Given the description of an element on the screen output the (x, y) to click on. 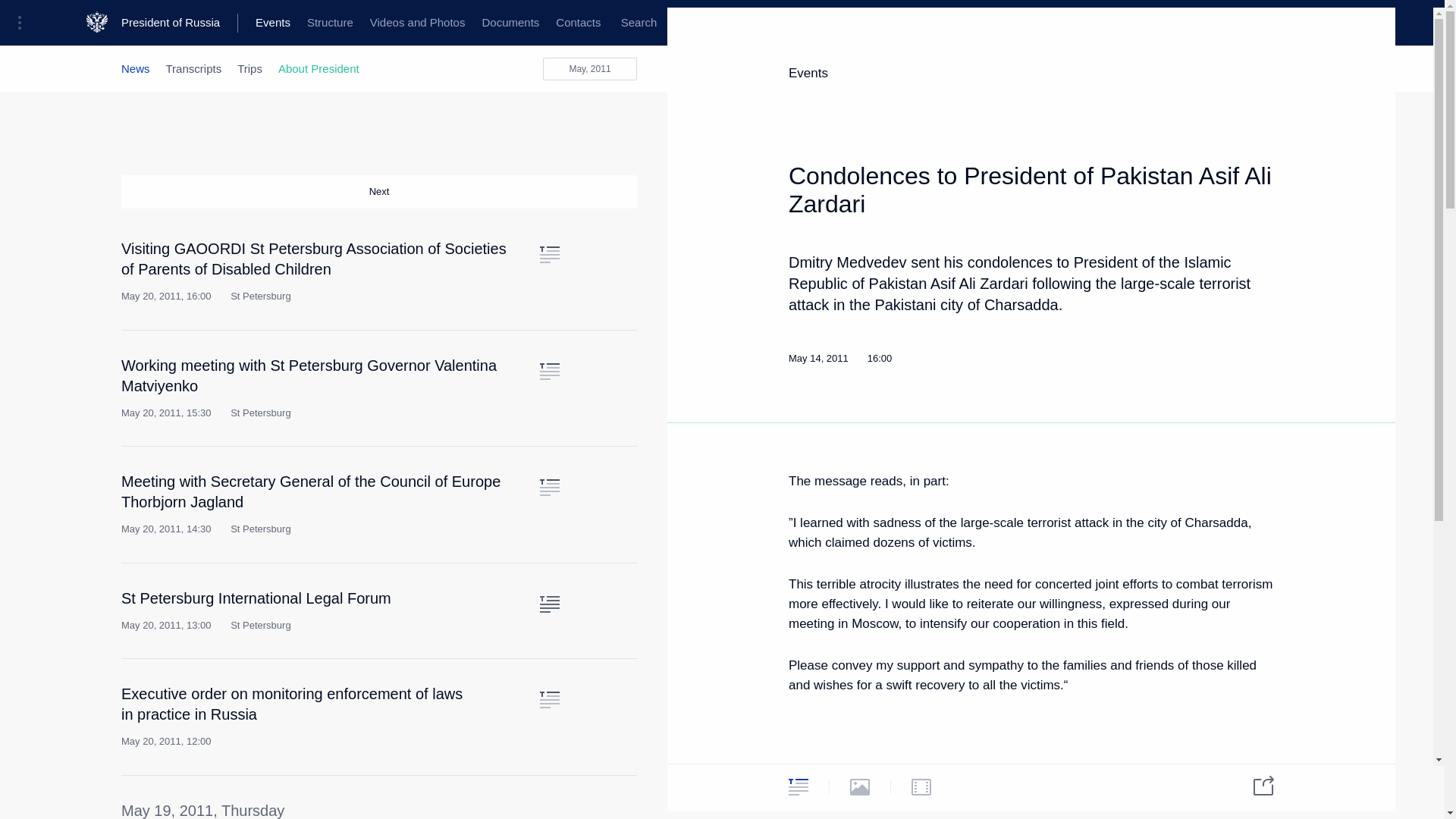
Text of the article (549, 699)
Text of the article (549, 254)
Videos and Photos (417, 22)
May, 2011 (590, 68)
Transcripts (194, 68)
Text of the article (549, 604)
Presidential Executive Office (257, 22)
Contacts (577, 22)
Commissions and Councils (596, 22)
Text of the article (549, 371)
Events (272, 22)
Next (378, 191)
